Given the description of an element on the screen output the (x, y) to click on. 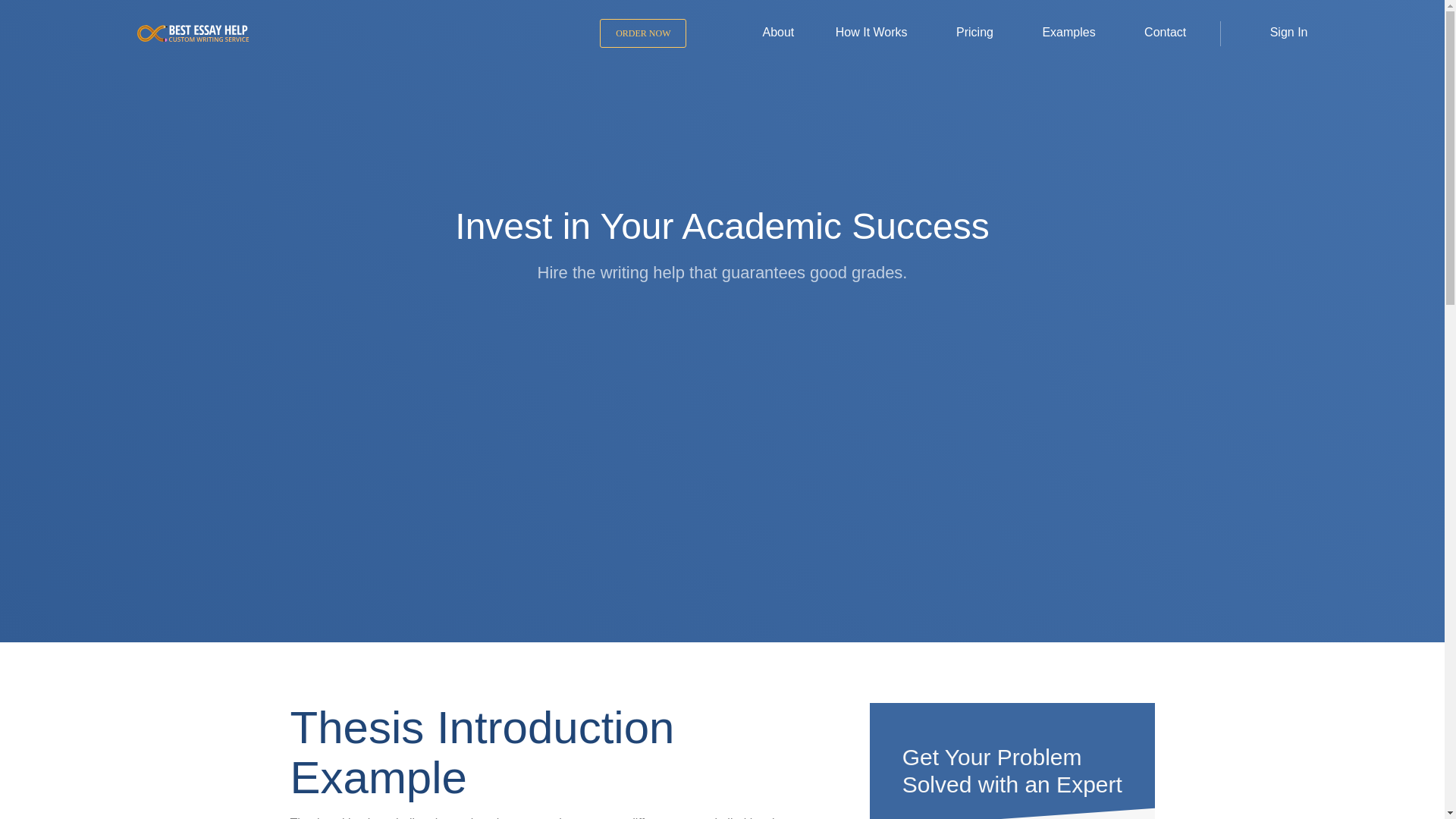
How It Works (859, 31)
Contact (1149, 31)
Examples (1052, 31)
Pricing (959, 31)
Sign In (1278, 31)
About (762, 31)
ORDER NOW (642, 32)
